Given the description of an element on the screen output the (x, y) to click on. 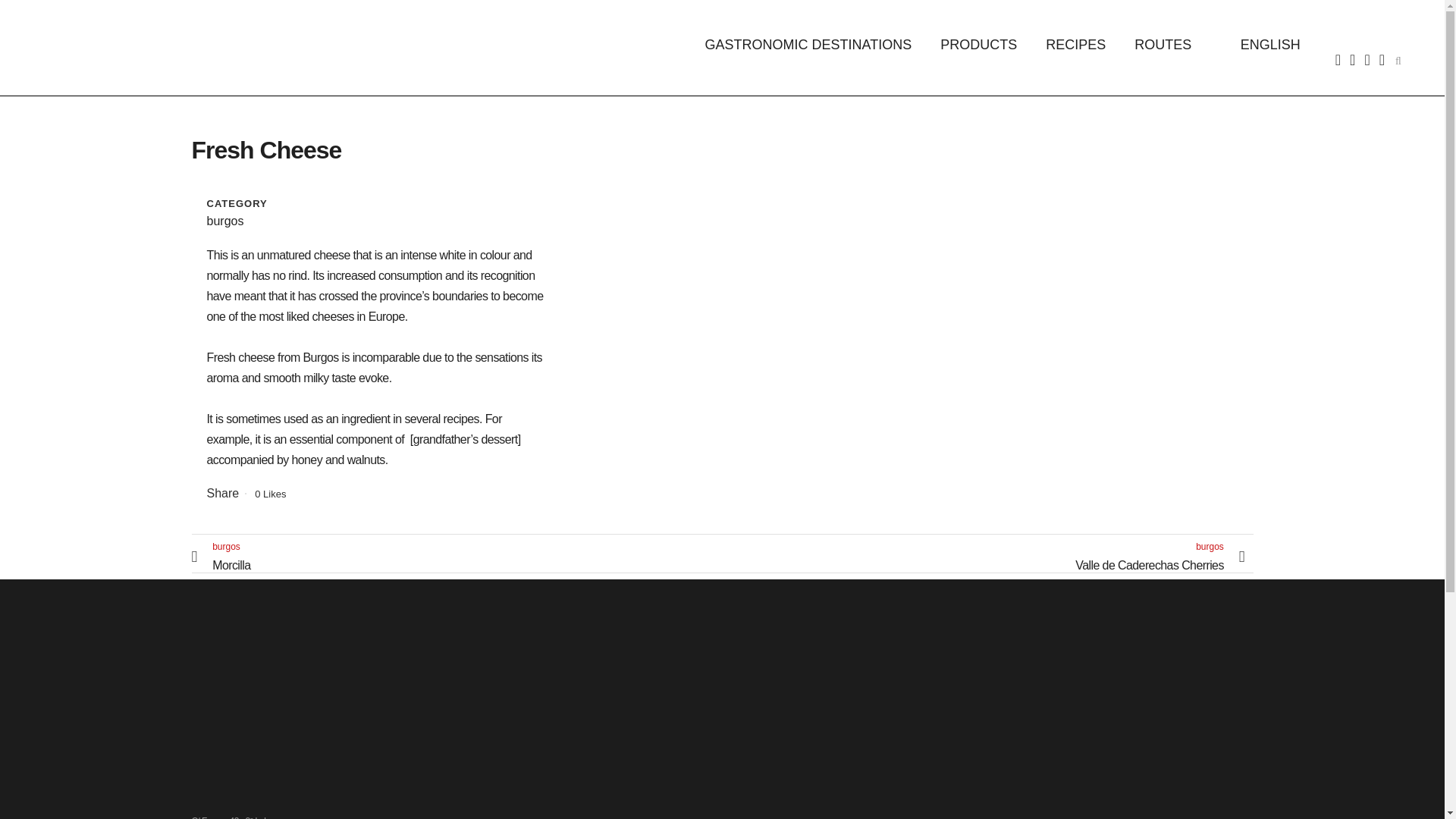
English (1261, 44)
GASTRONOMIC DESTINATIONS (808, 44)
Like this (269, 493)
PRODUCTS (978, 44)
ROUTES (1162, 44)
RECIPES (1074, 44)
